Given the description of an element on the screen output the (x, y) to click on. 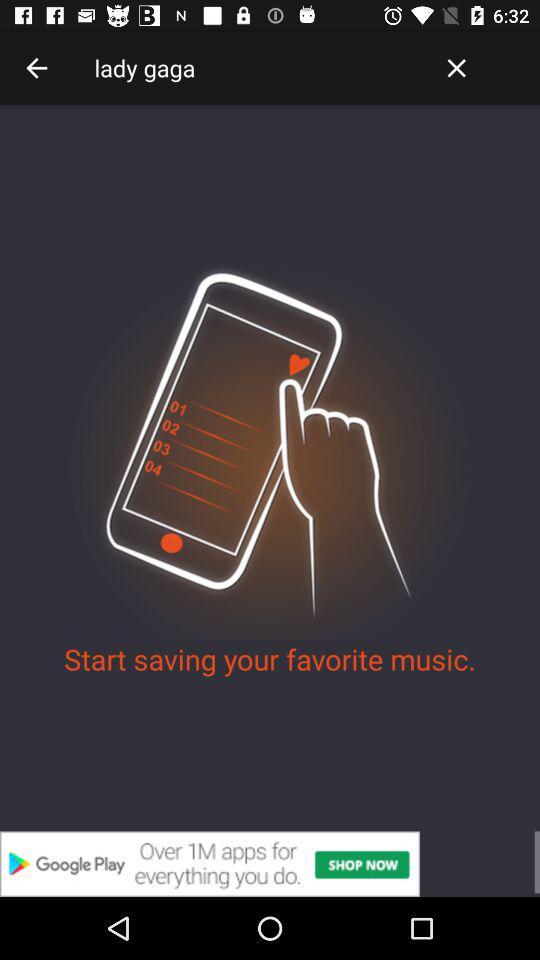
add banner (270, 864)
